Given the description of an element on the screen output the (x, y) to click on. 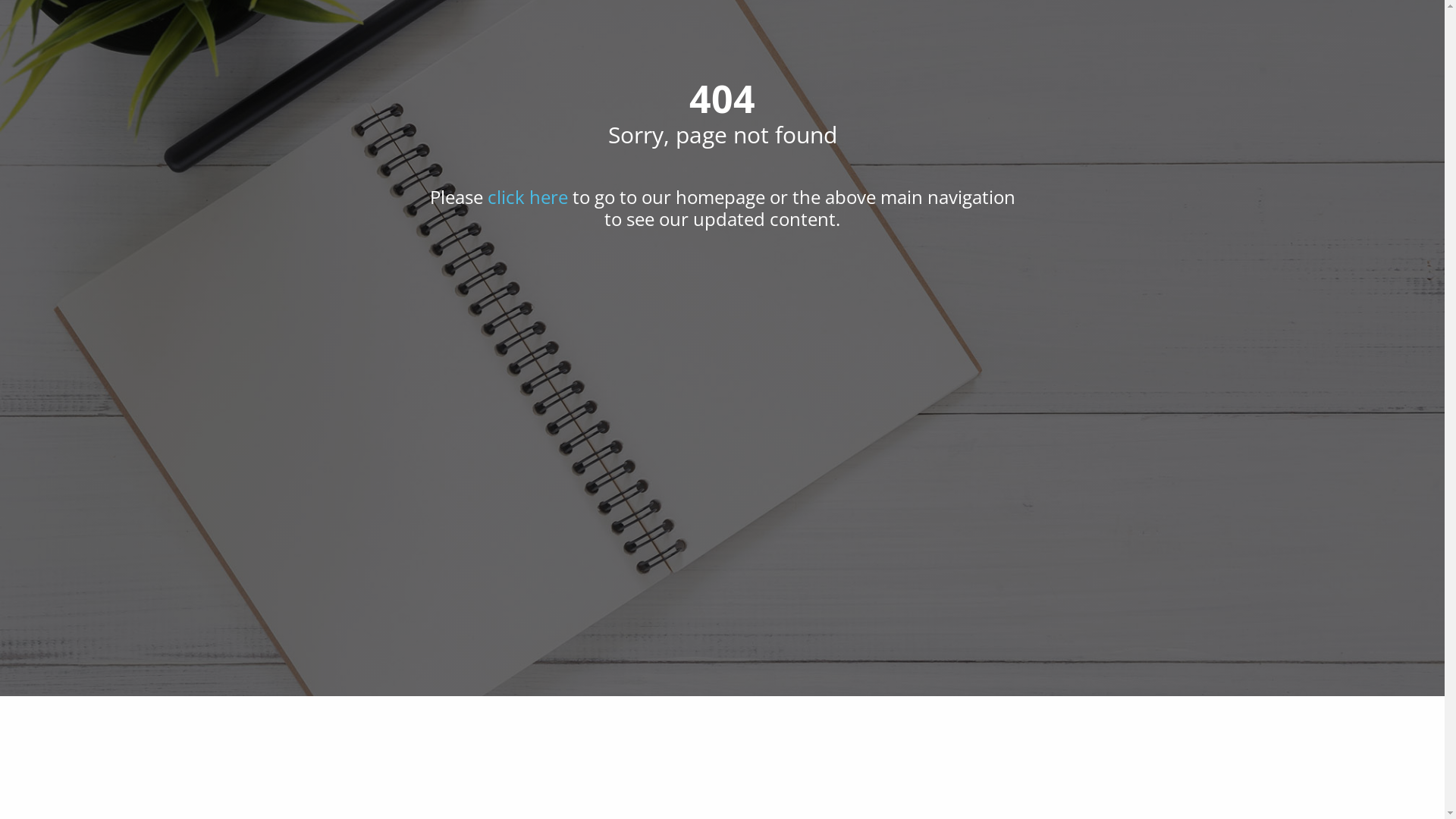
click here Element type: text (526, 196)
